Given the description of an element on the screen output the (x, y) to click on. 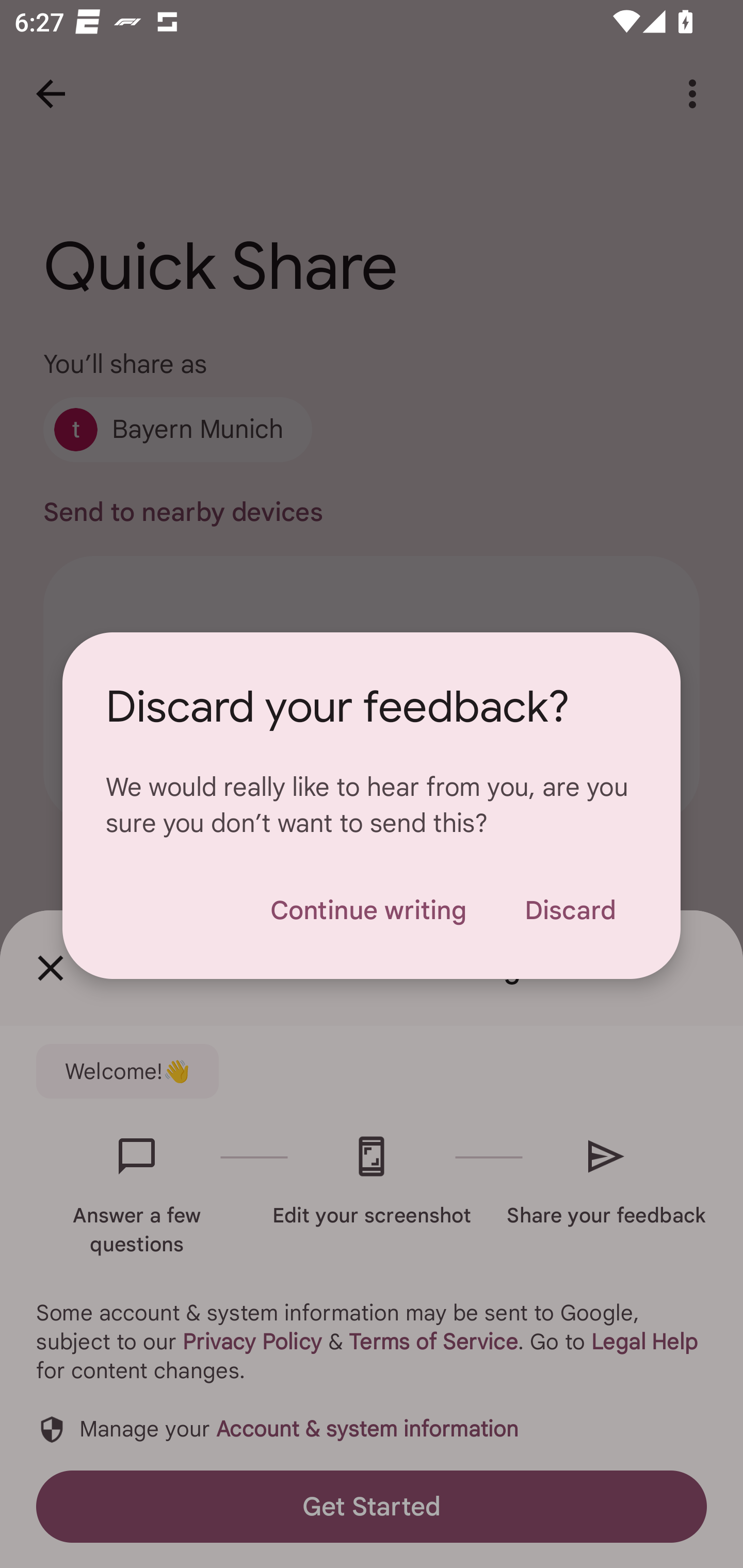
Continue writing (368, 910)
Discard (569, 910)
